Given the description of an element on the screen output the (x, y) to click on. 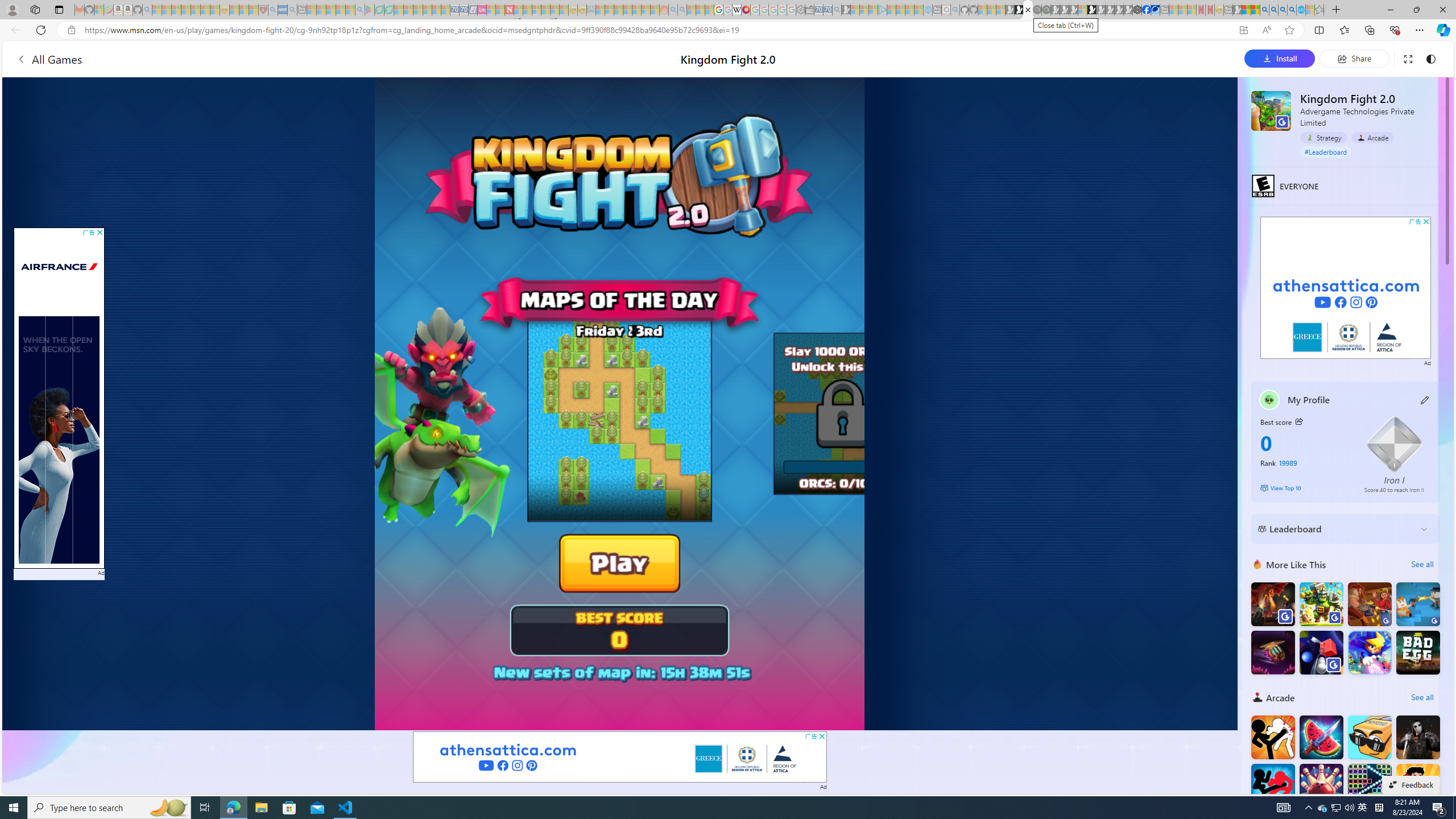
Gun Master (1417, 603)
Latest Politics News & Archive | Newsweek.com - Sleeping (508, 9)
Utah sues federal government - Search - Sleeping (681, 9)
#Leaderboard (1326, 151)
2009 Bing officially replaced Live Search on June 3 - Search (1272, 9)
Share (1353, 58)
